Given the description of an element on the screen output the (x, y) to click on. 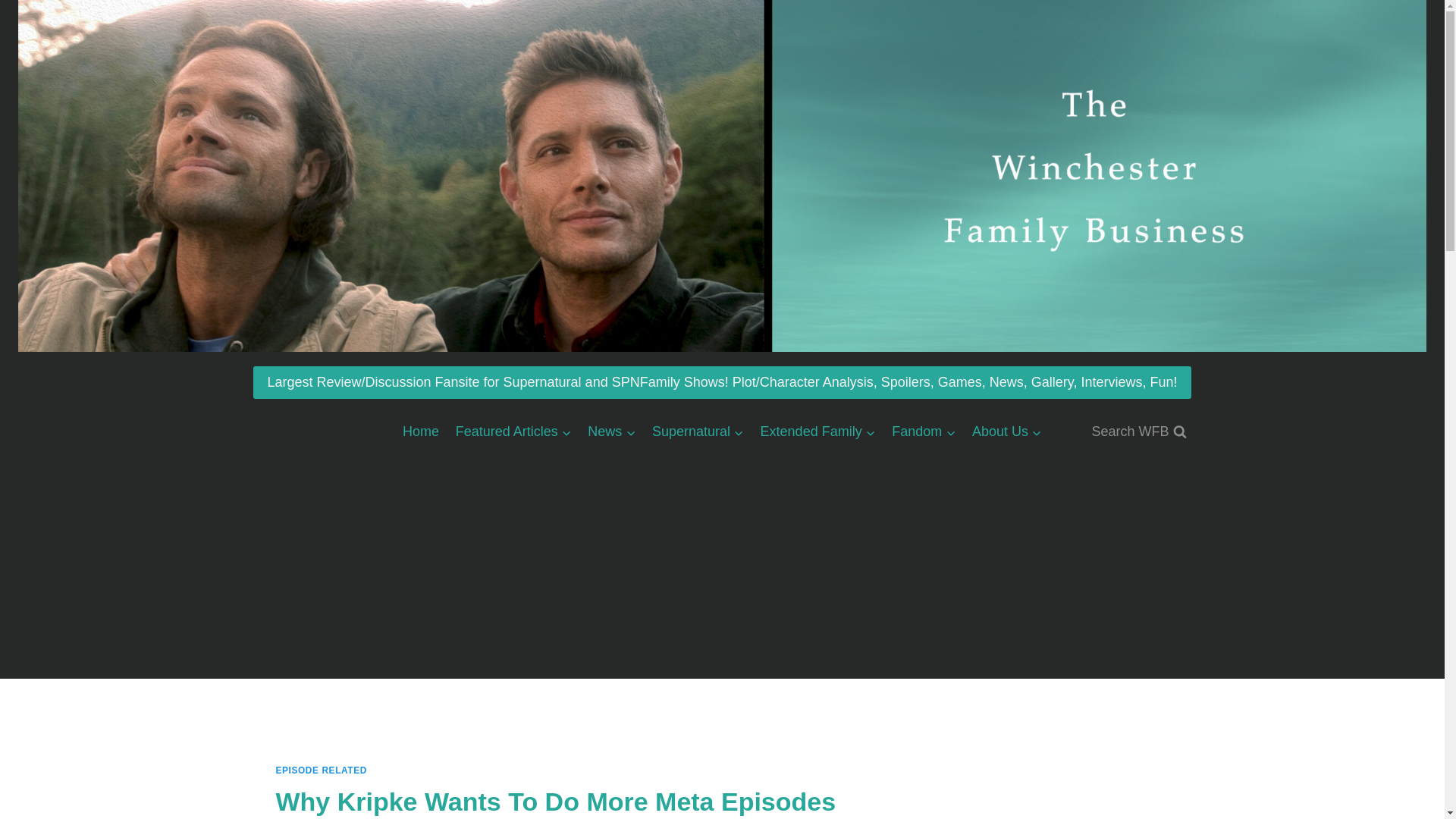
Featured Articles (512, 431)
Supernatural (697, 431)
Extended Family (817, 431)
Home (420, 431)
Search WFB (1138, 431)
About Us (1006, 431)
EPISODE RELATED (321, 769)
News (612, 431)
Fandom (923, 431)
